Given the description of an element on the screen output the (x, y) to click on. 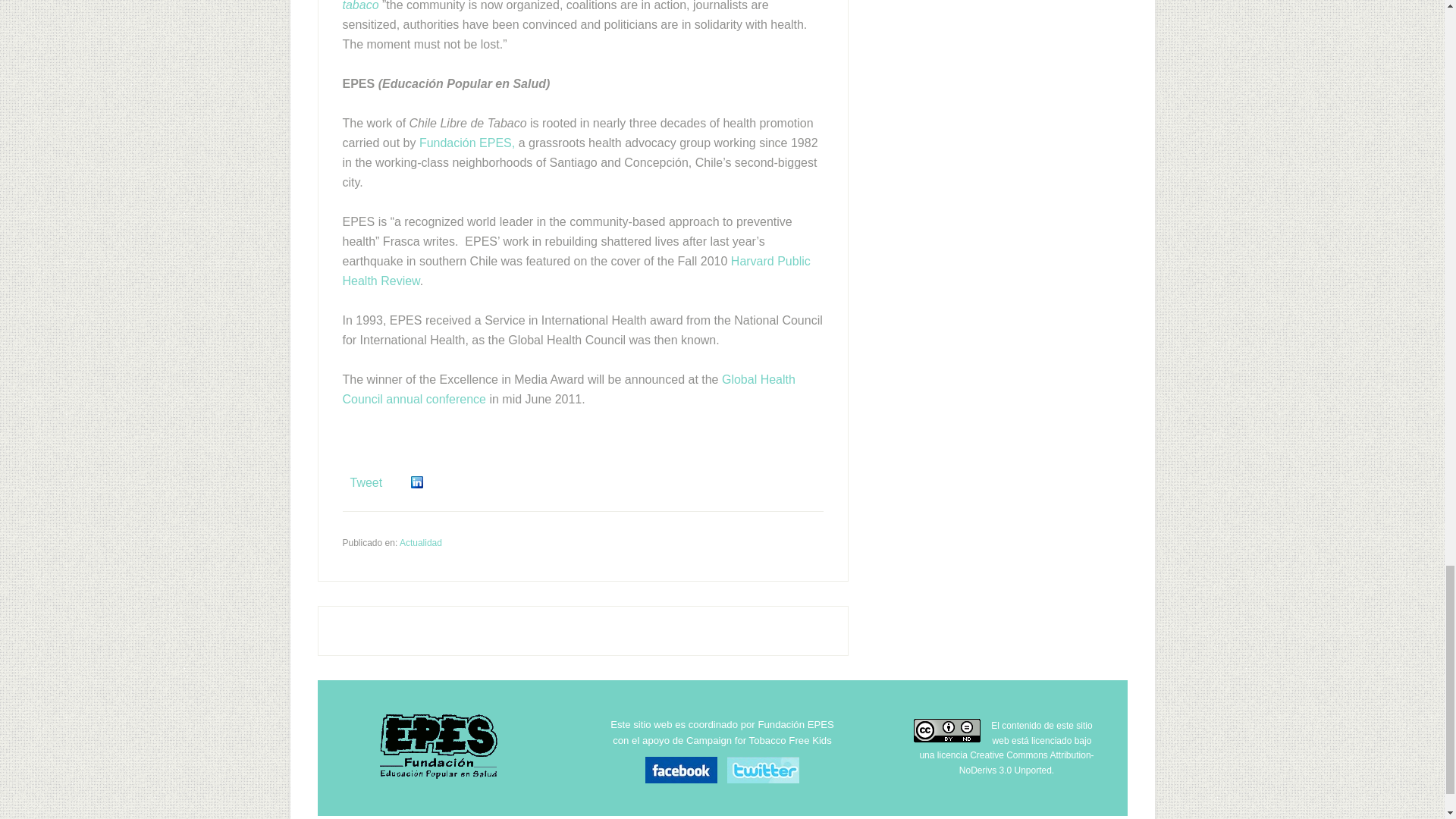
Chile Libre de Tabaco en Facebook (685, 779)
Global Health Council annual conference (568, 389)
Campaign for Tobacco Free Kids (758, 740)
Harvard Public Health Review (576, 270)
Actualidad (420, 542)
Compartir en LinkedIn (416, 481)
Creative Commons Attribution-NoDerivs 3.0 Unported (1026, 762)
Compartir en LinkedIn (416, 481)
Chile Libre de Tabaco en Twitter (762, 779)
Tweet (366, 481)
Fuertes contra el tabaco (575, 5)
Campaign for Tobacco Free Kids (758, 740)
